Given the description of an element on the screen output the (x, y) to click on. 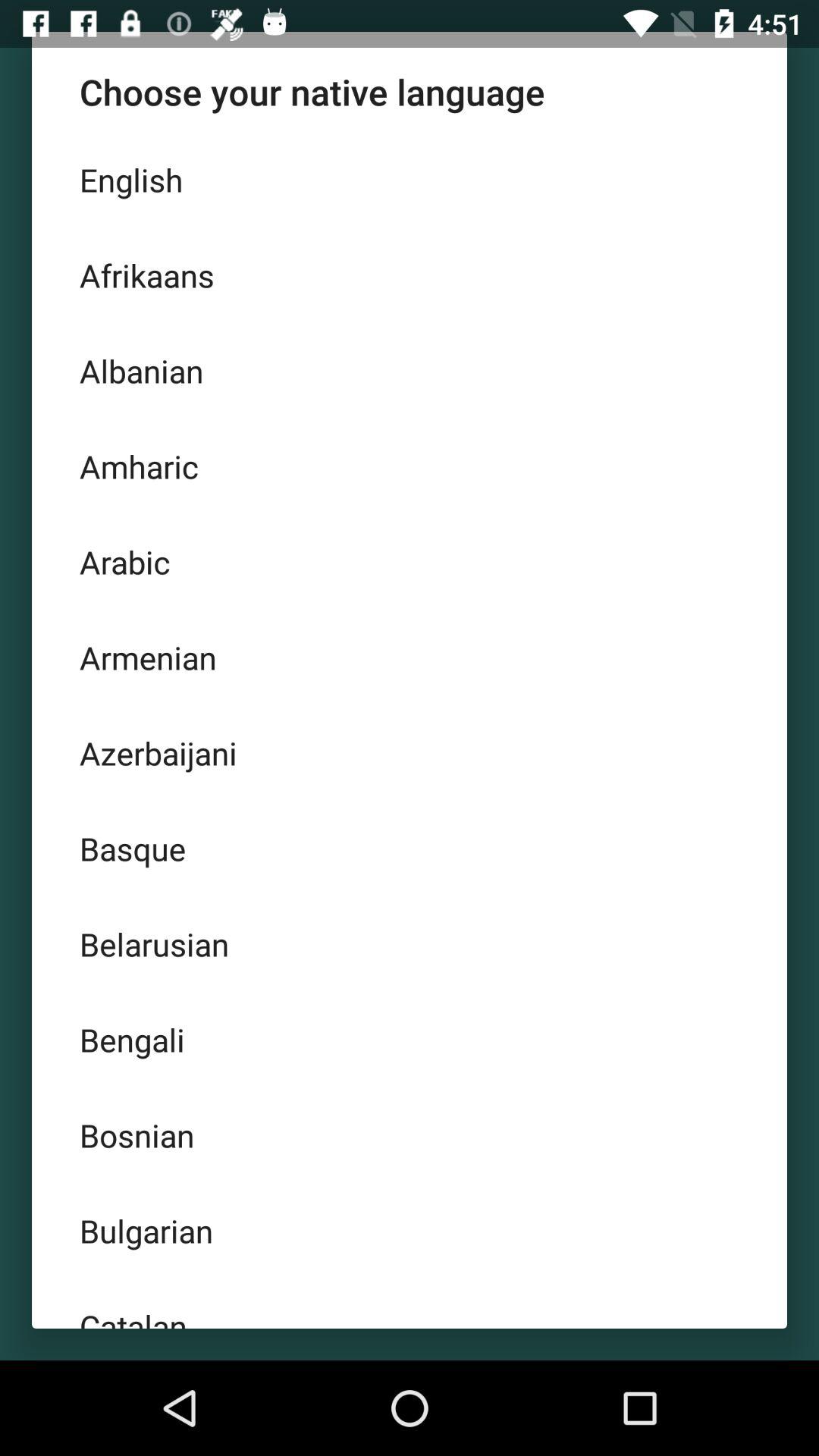
scroll until the basque (409, 848)
